Given the description of an element on the screen output the (x, y) to click on. 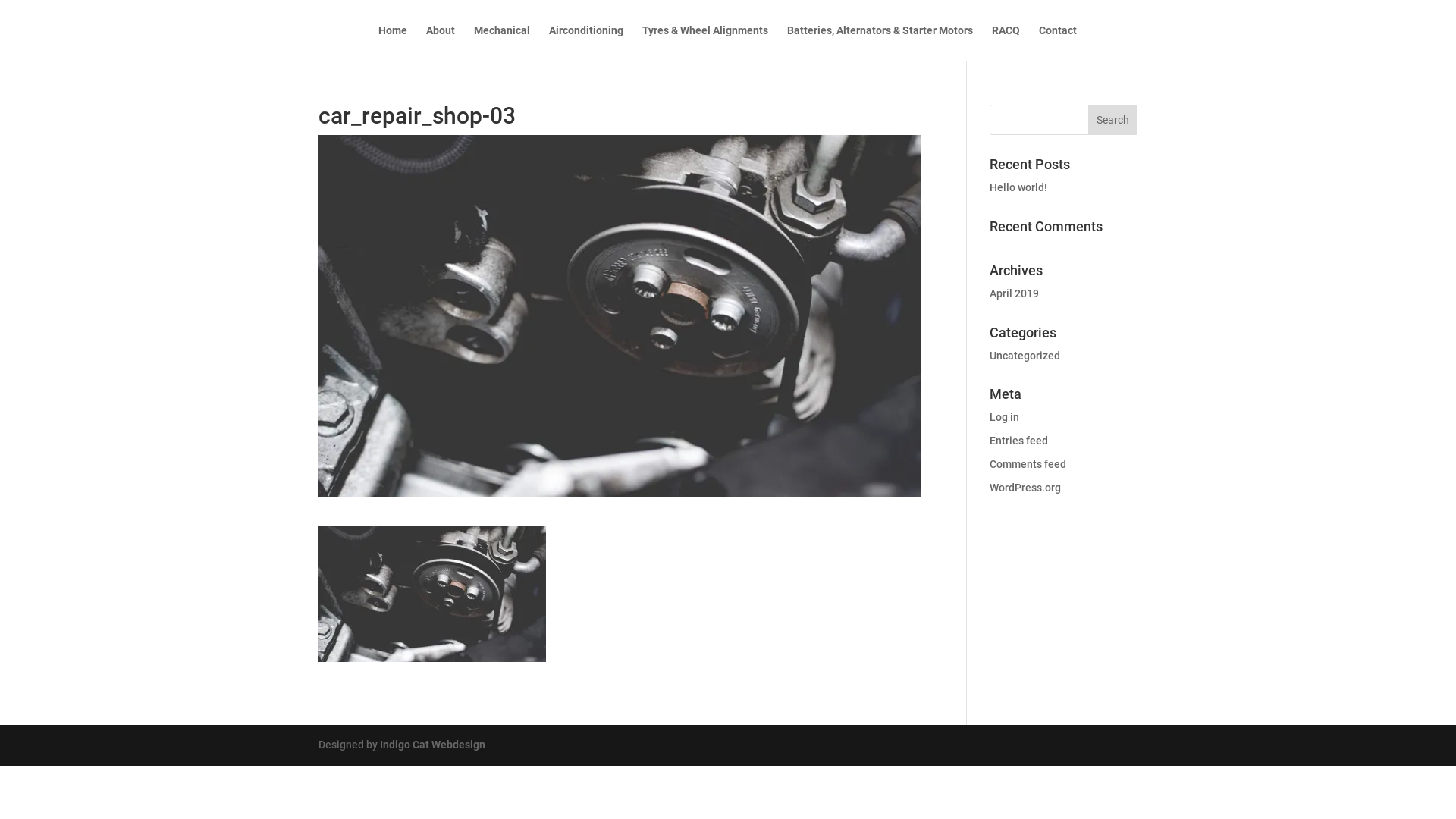
Contact Element type: text (1057, 42)
Home Element type: text (391, 42)
Search Element type: text (1112, 119)
Comments feed Element type: text (1027, 464)
Mechanical Element type: text (501, 42)
April 2019 Element type: text (1013, 293)
Tyres & Wheel Alignments Element type: text (704, 42)
About Element type: text (440, 42)
Airconditioning Element type: text (586, 42)
Entries feed Element type: text (1018, 440)
Hello world! Element type: text (1018, 187)
Uncategorized Element type: text (1024, 355)
Batteries, Alternators & Starter Motors Element type: text (879, 42)
WordPress.org Element type: text (1024, 487)
Indigo Cat Webdesign Element type: text (432, 744)
RACQ Element type: text (1005, 42)
Log in Element type: text (1004, 417)
